Given the description of an element on the screen output the (x, y) to click on. 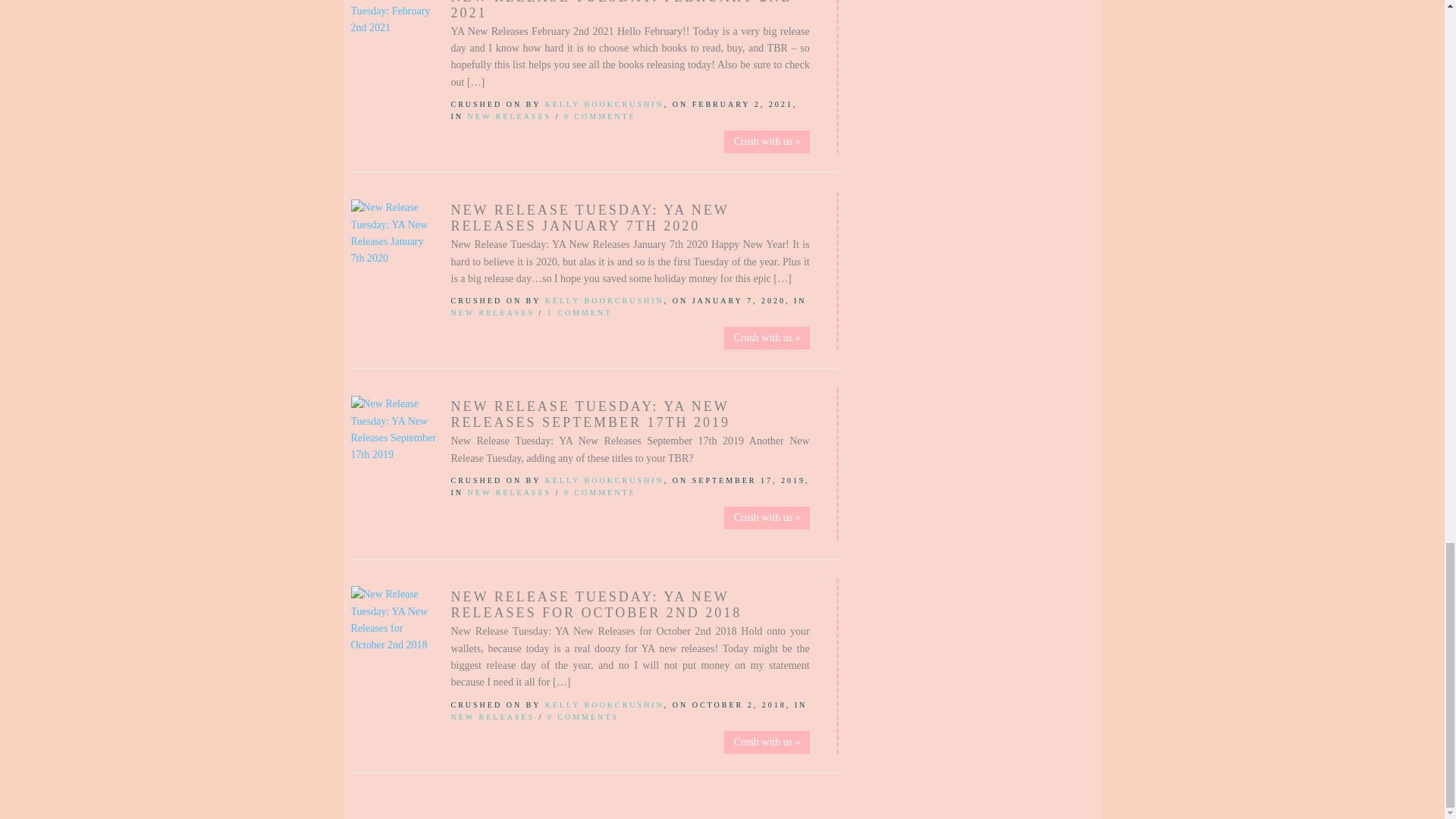
View all posts in New Releases (509, 116)
